Given the description of an element on the screen output the (x, y) to click on. 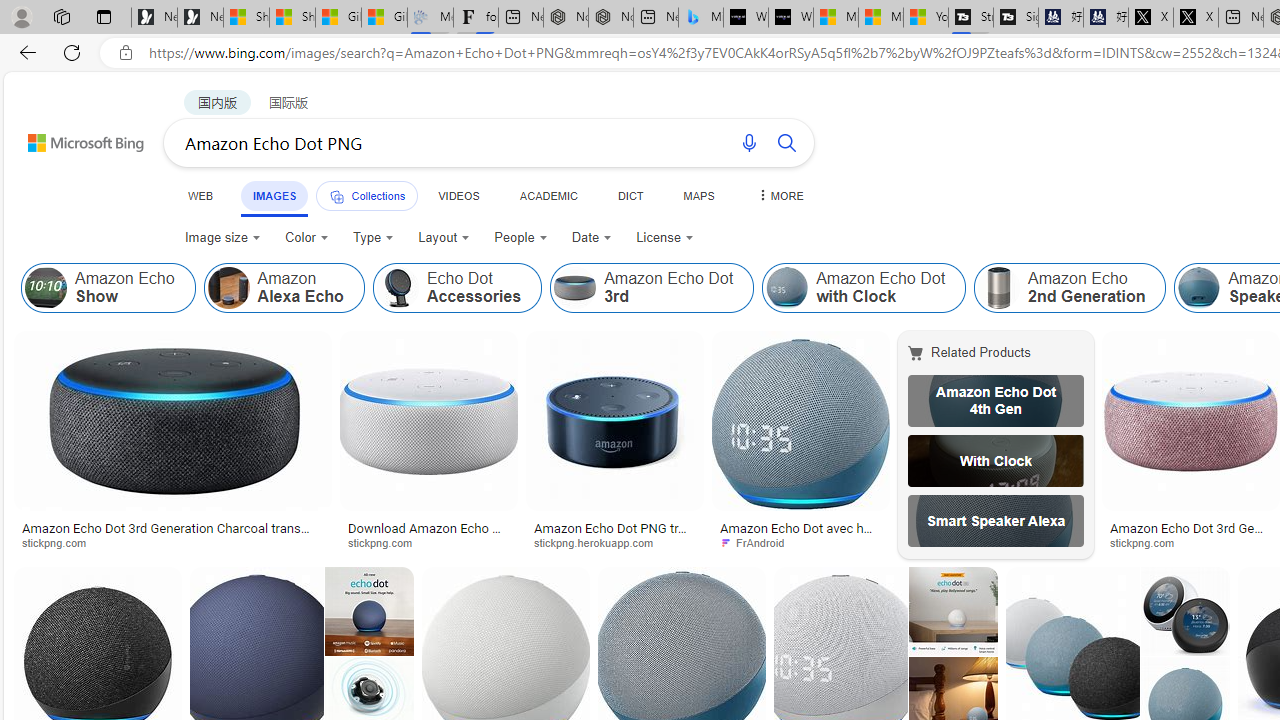
Image size (221, 237)
Smart Speaker Alexa Echo Dot (995, 521)
Amazon Echo Dot 4th Gen (995, 400)
Newsletter Sign Up (199, 17)
Amazon Echo Dot with Clock (786, 287)
Color (305, 237)
ACADEMIC (548, 195)
Microsoft Bing Travel - Shangri-La Hotel Bangkok (700, 17)
